Given the description of an element on the screen output the (x, y) to click on. 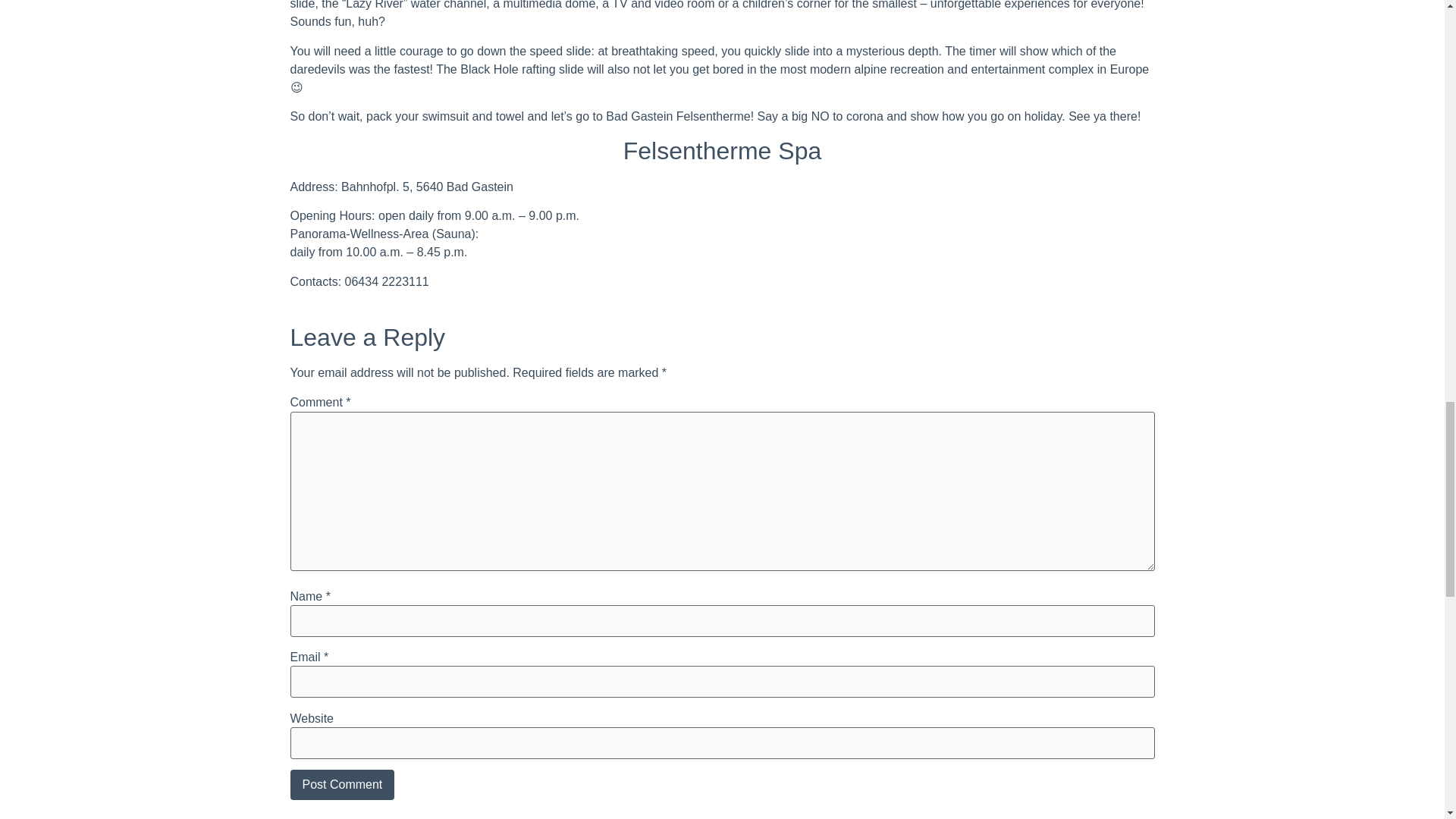
Post Comment (341, 784)
